Given the description of an element on the screen output the (x, y) to click on. 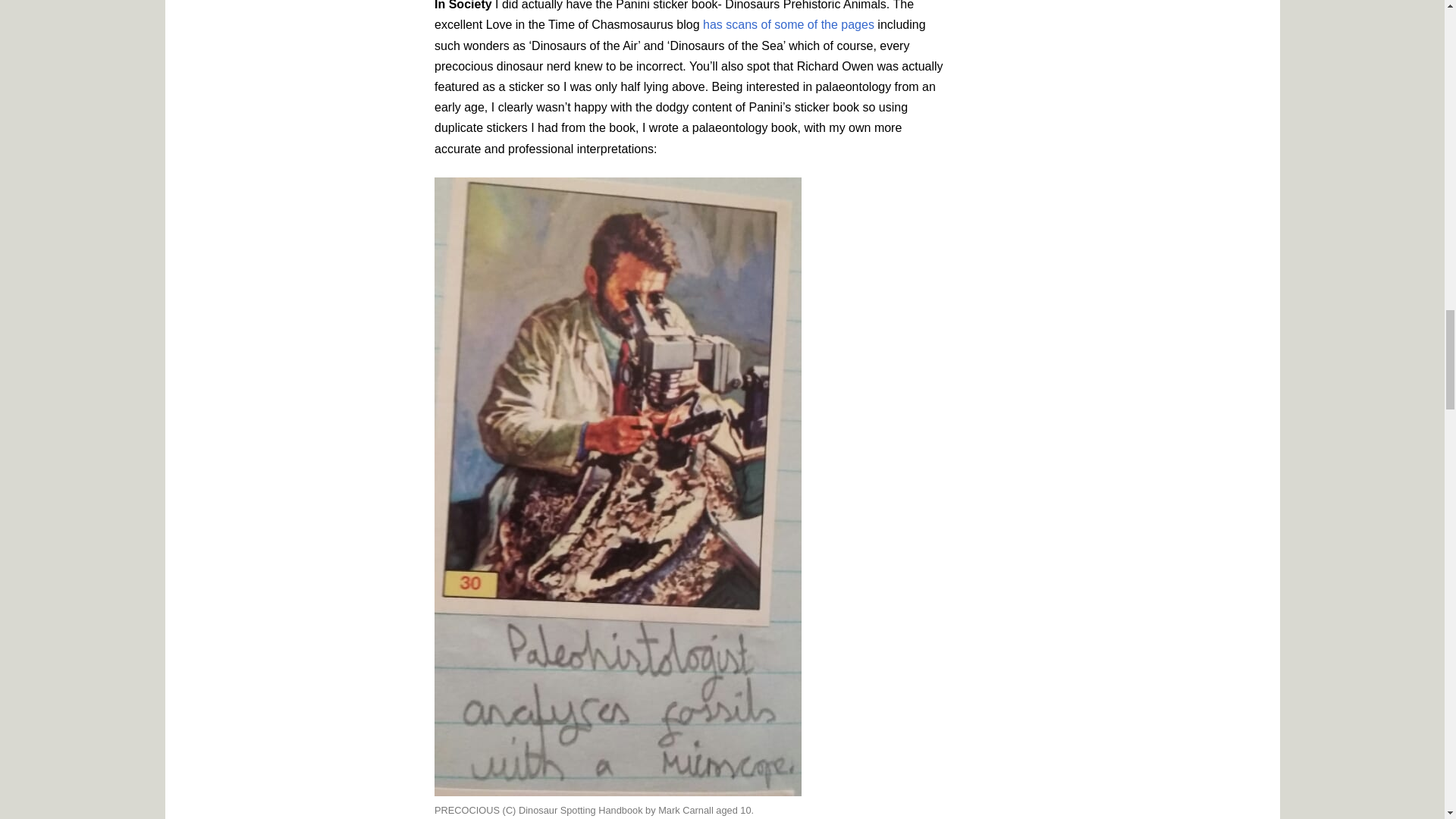
has scans of some of the pages (789, 24)
